Given the description of an element on the screen output the (x, y) to click on. 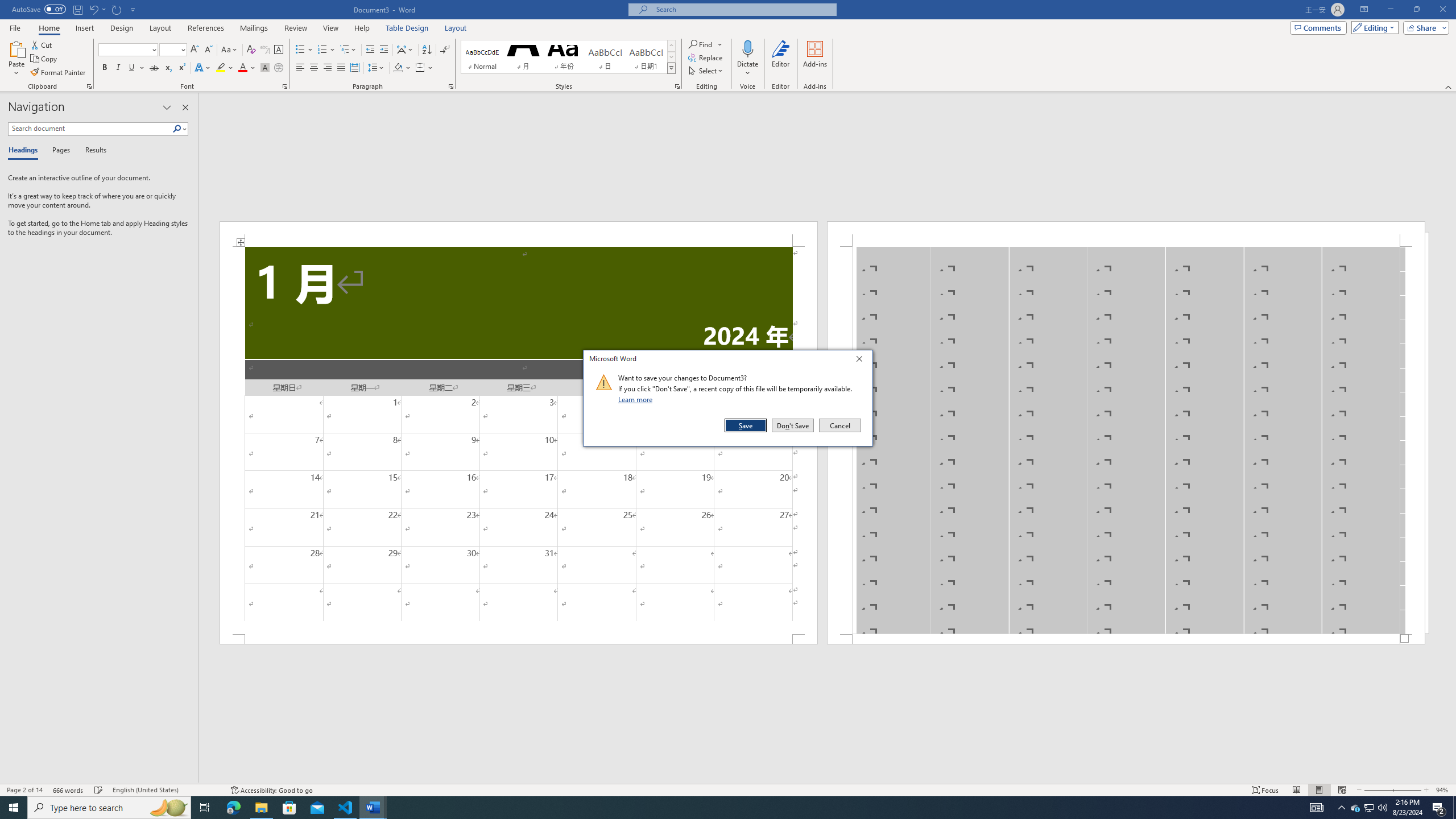
Font Size (172, 49)
Action Center, 2 new notifications (1439, 807)
Headings (25, 150)
Clear Formatting (250, 49)
Cut (42, 44)
Copy (45, 58)
AutoSave (38, 9)
Show desktop (1454, 807)
Word - 2 running windows (373, 807)
View (330, 28)
Borders (419, 67)
Underline (131, 67)
Numbering (326, 49)
